Given the description of an element on the screen output the (x, y) to click on. 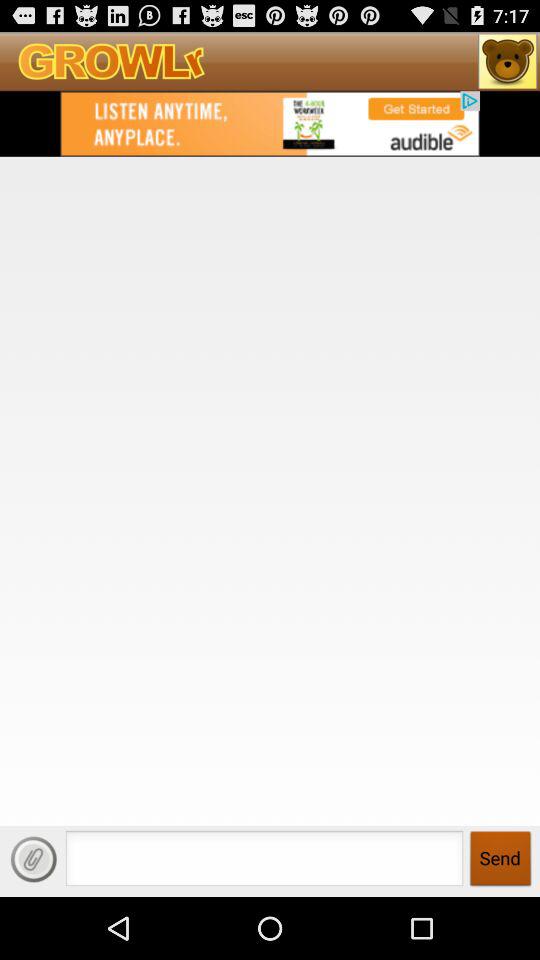
paperclip this page (33, 859)
